Given the description of an element on the screen output the (x, y) to click on. 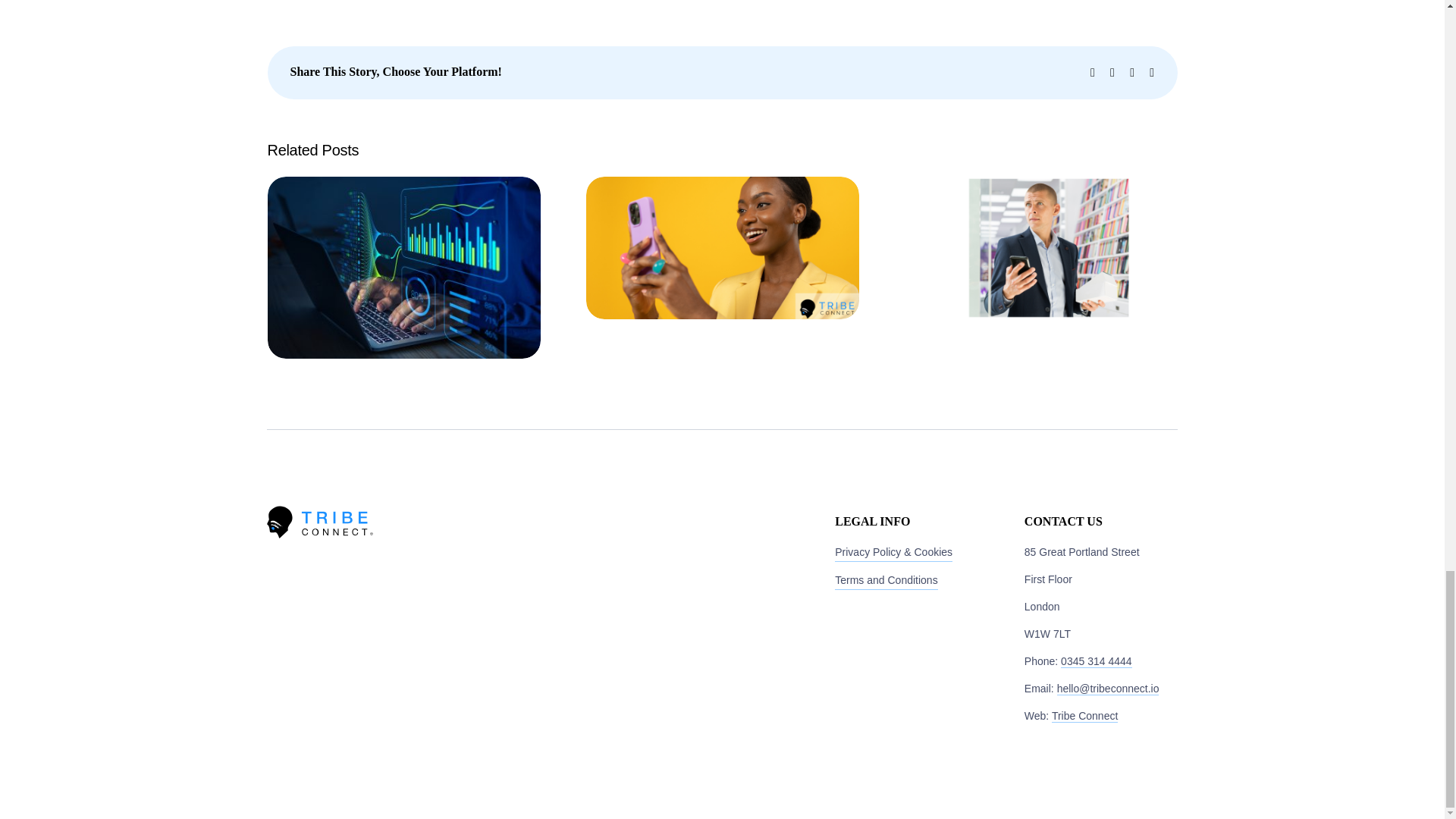
Email (1152, 72)
LinkedIn (1131, 72)
X (1112, 72)
Facebook (1092, 72)
